Given the description of an element on the screen output the (x, y) to click on. 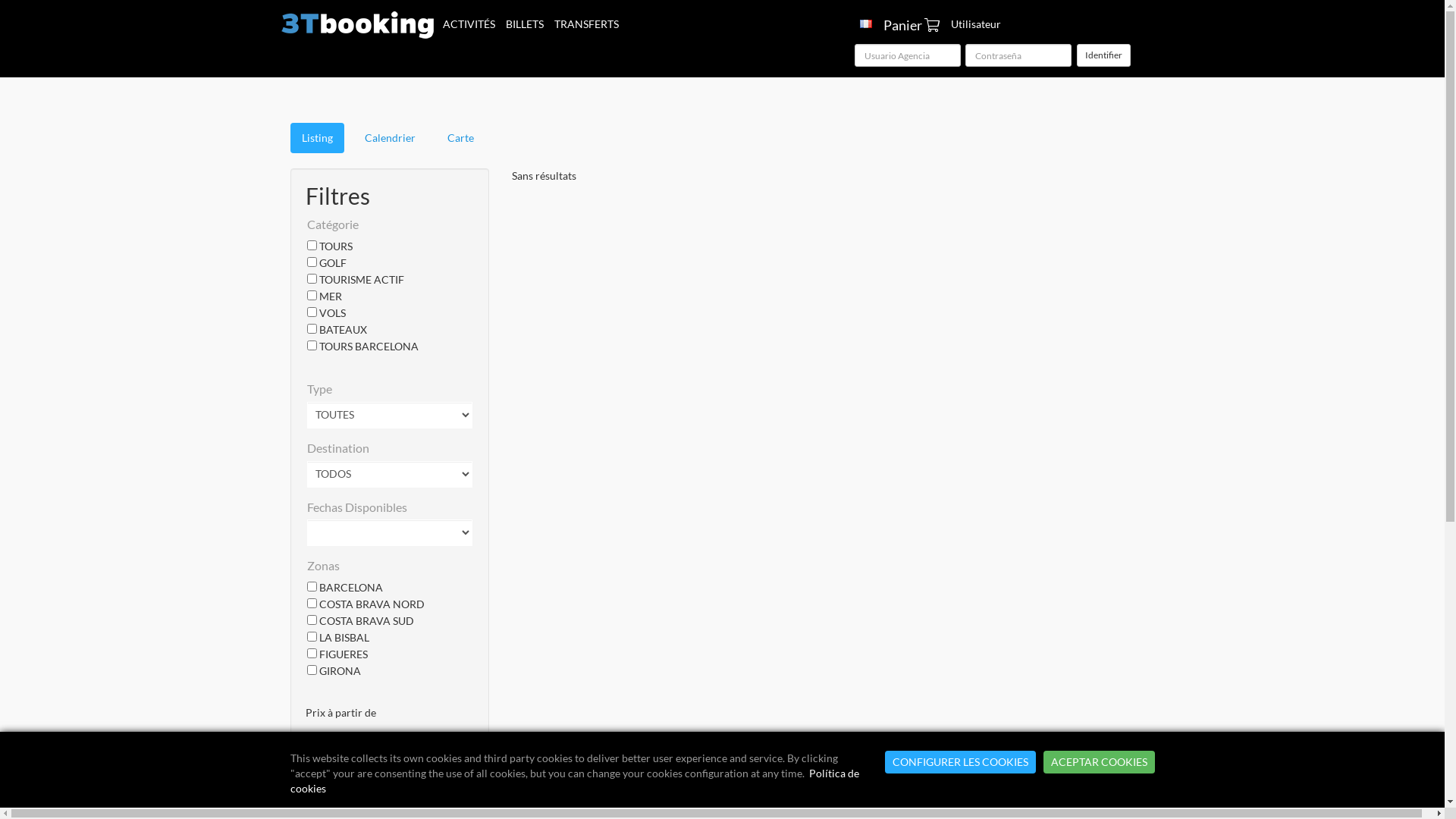
Listing Element type: text (316, 137)
3Tbooking Element type: hover (358, 18)
BILLETS Element type: text (524, 24)
Restablecer filtros Element type: text (389, 771)
Panier Element type: text (910, 24)
Identifier Element type: text (1103, 54)
CONFIGURER LES COOKIES Element type: text (959, 761)
ACEPTAR COOKIES Element type: text (1098, 761)
Calendrier Element type: text (389, 137)
TRANSFERTS Element type: text (586, 24)
Carte Element type: text (459, 137)
Utilisateur Element type: text (974, 24)
 Usuario Agencia Element type: hover (906, 54)
